Given the description of an element on the screen output the (x, y) to click on. 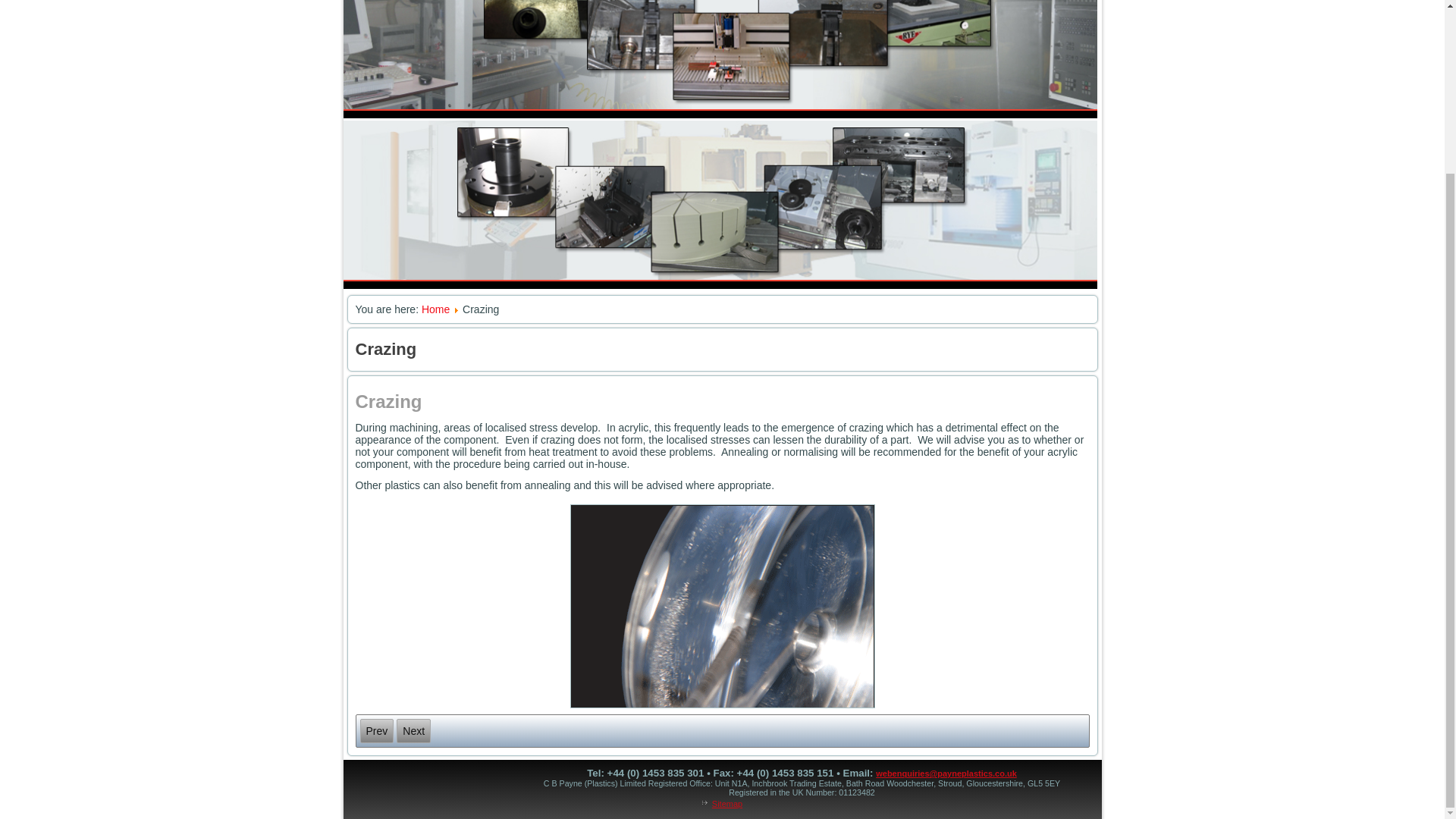
Next (413, 730)
Prev (376, 730)
Sitemap (726, 803)
Home (435, 309)
